Given the description of an element on the screen output the (x, y) to click on. 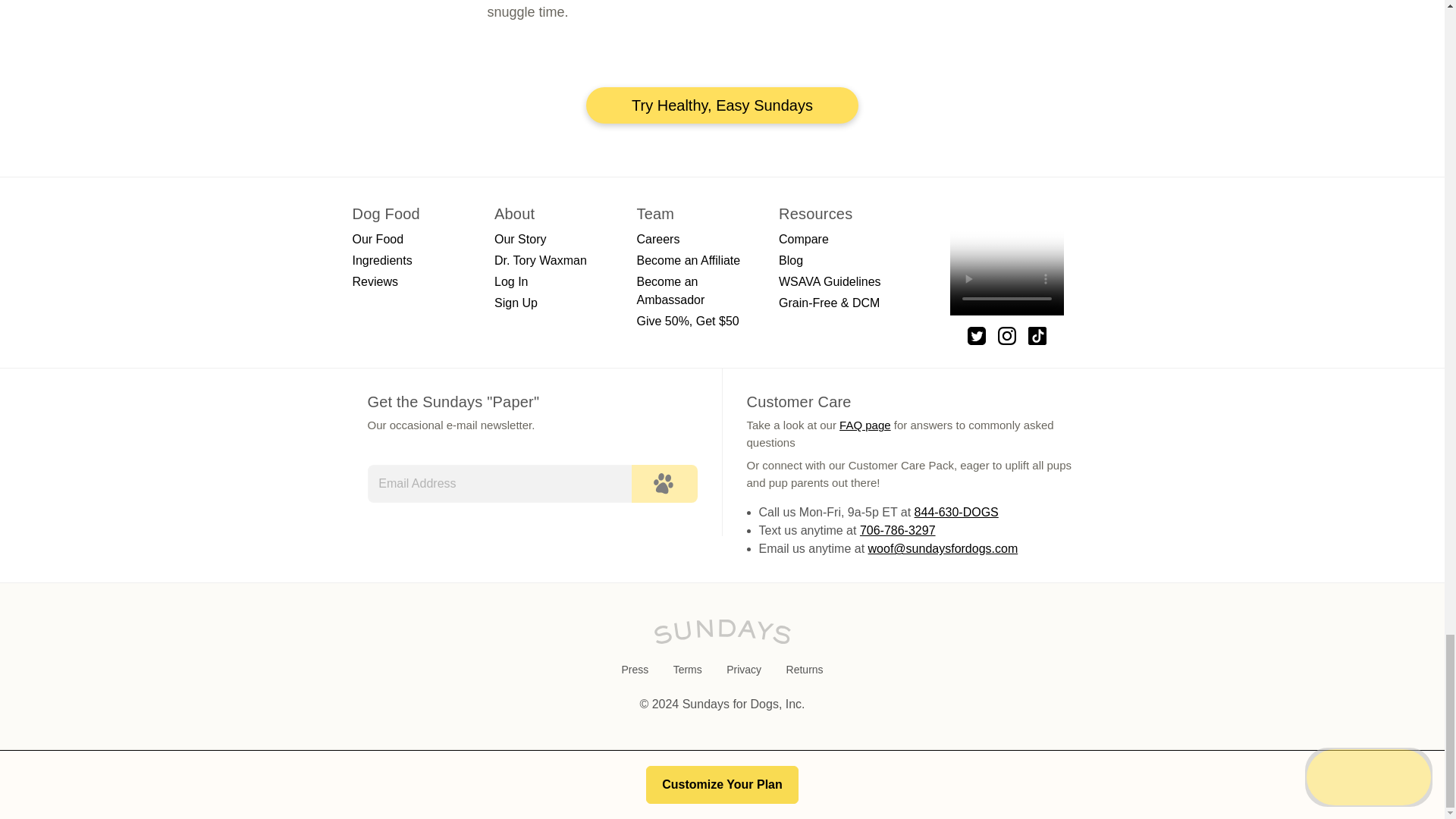
Dr. Tory Waxman (540, 259)
Careers (658, 238)
Become an Ambassador (670, 290)
Our Story (520, 238)
Our Food (377, 238)
Sign Up (516, 302)
Try Healthy, Easy Sundays (722, 104)
Become an Affiliate (689, 259)
Reviews (374, 281)
Log In (511, 281)
Ingredients (382, 259)
